Given the description of an element on the screen output the (x, y) to click on. 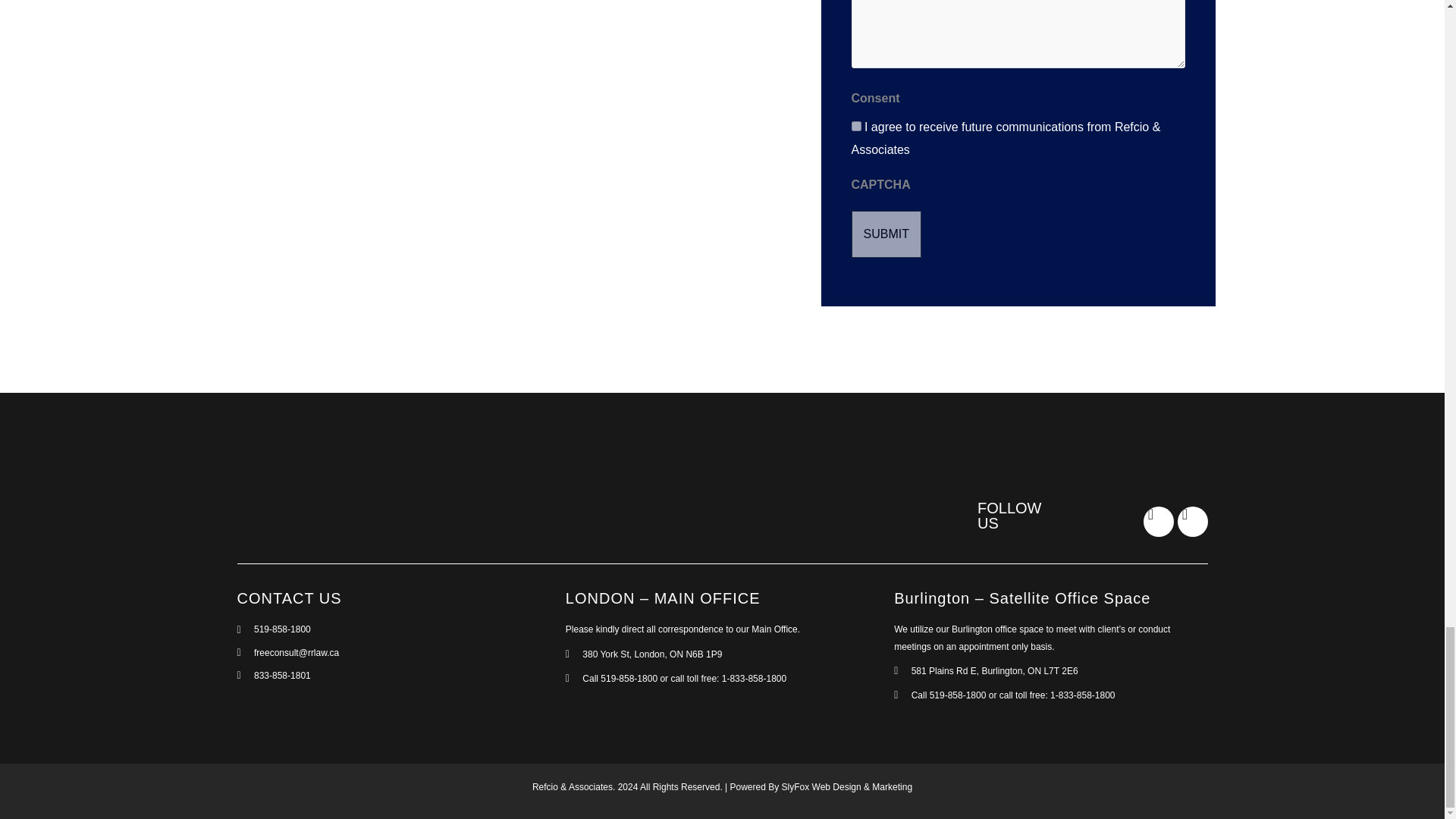
1 (855, 126)
Submit (885, 233)
